Given the description of an element on the screen output the (x, y) to click on. 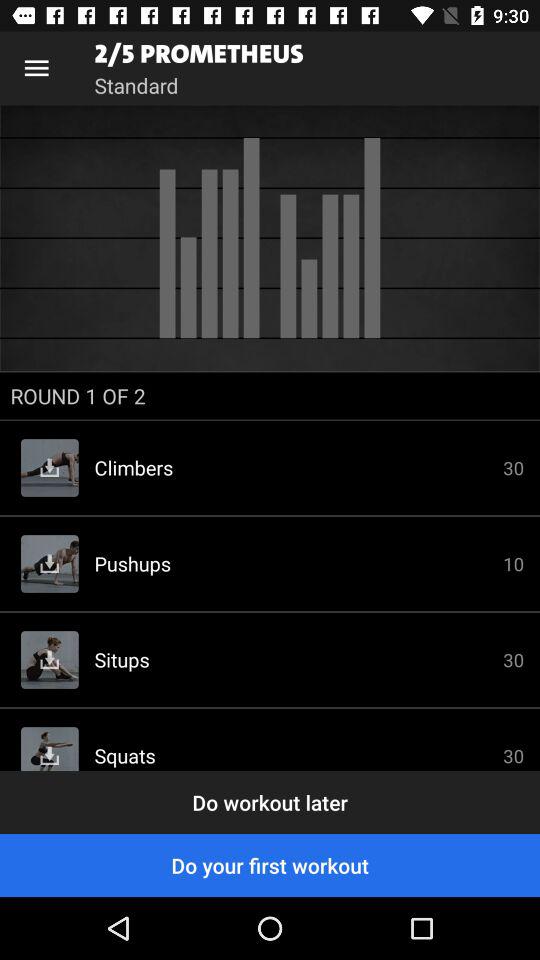
turn on round 1 of (270, 395)
